Given the description of an element on the screen output the (x, y) to click on. 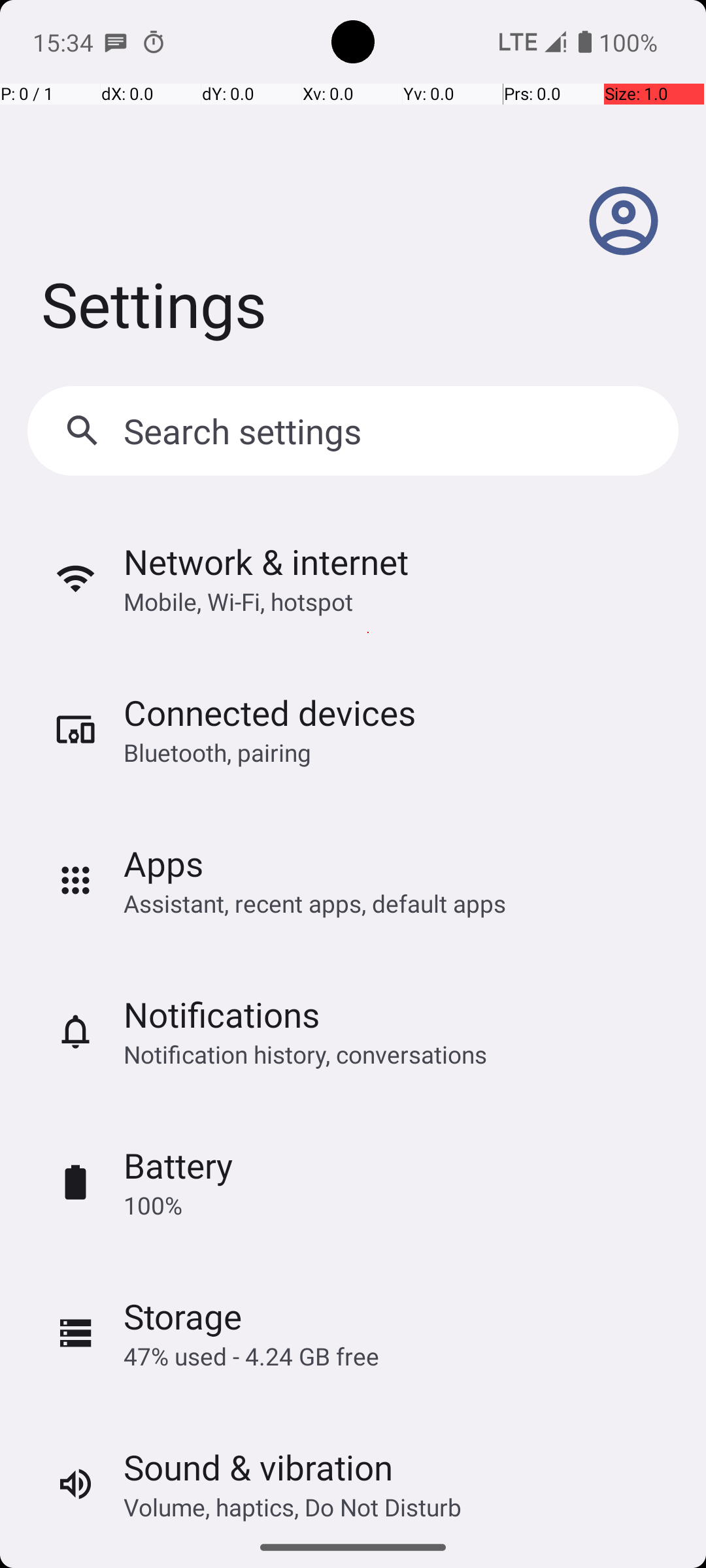
47% used - 4.24 GB free Element type: android.widget.TextView (251, 1355)
